Given the description of an element on the screen output the (x, y) to click on. 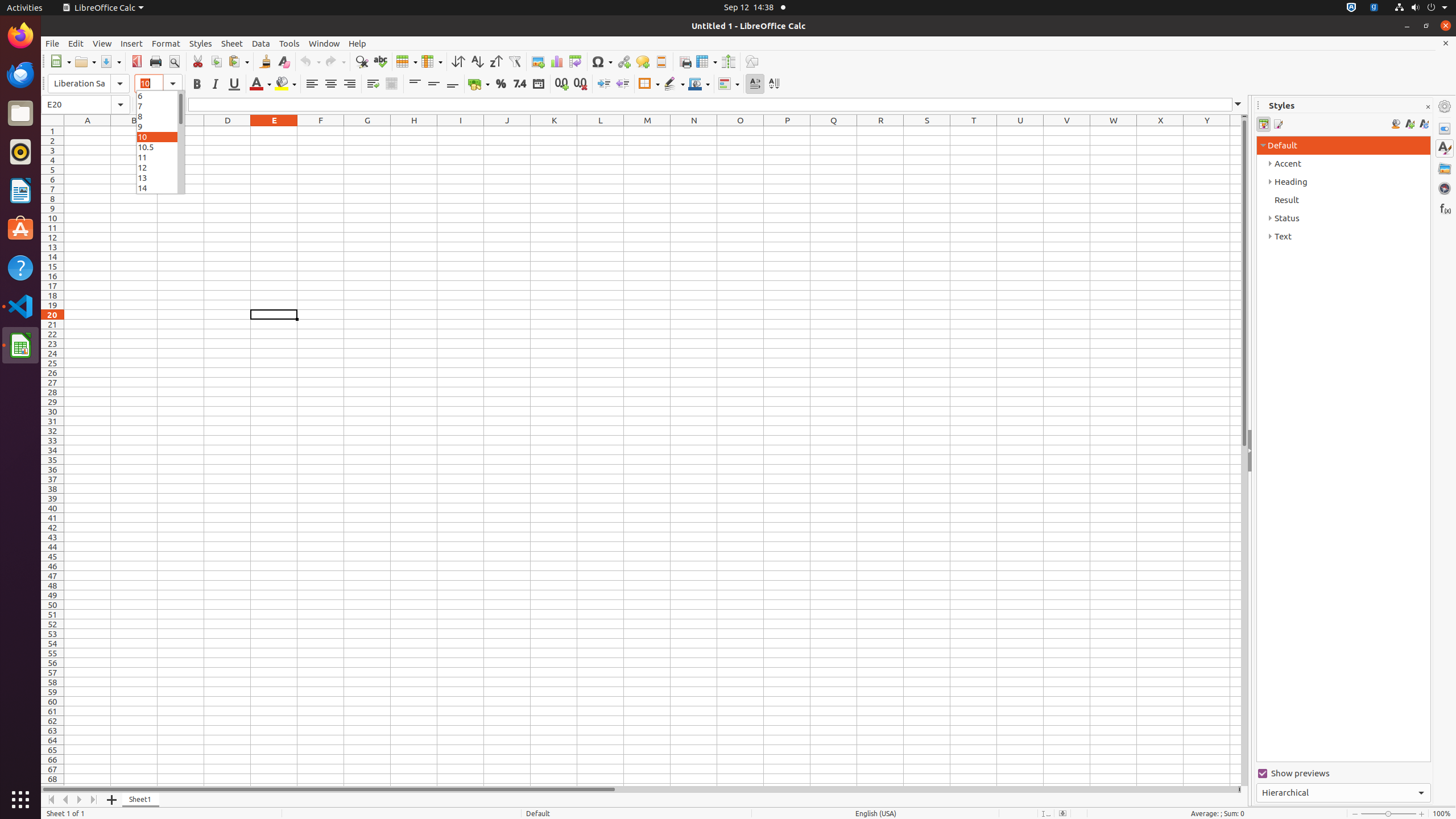
X1 Element type: table-cell (1159, 130)
8 Element type: list-item (160, 115)
Border Color Element type: push-button (698, 83)
K1 Element type: table-cell (553, 130)
Open Element type: push-button (84, 61)
